Given the description of an element on the screen output the (x, y) to click on. 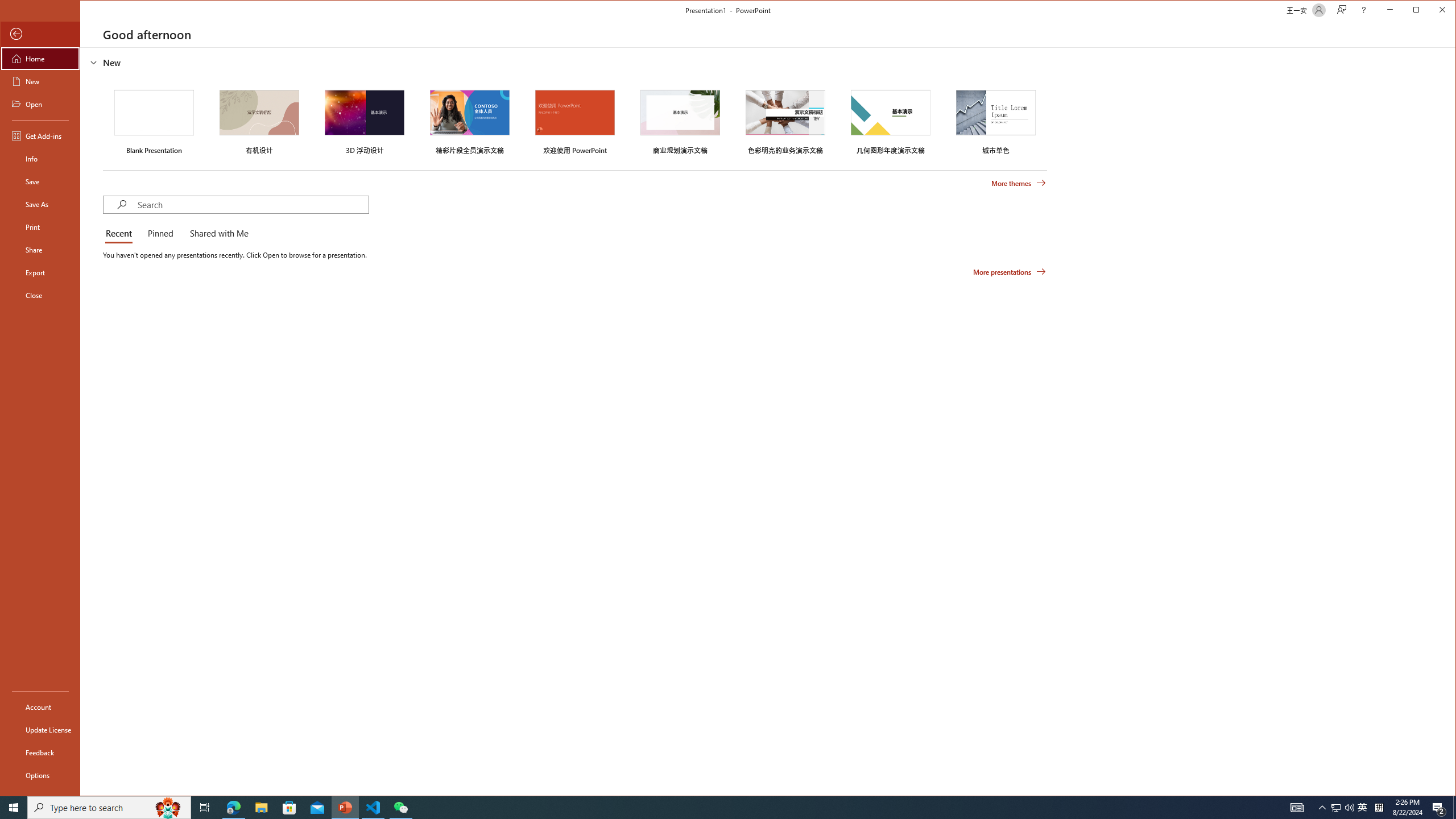
More themes (1018, 183)
Print (40, 226)
Type here to search (108, 807)
Running applications (707, 807)
Q2790: 100% (1349, 807)
Hide or show region (93, 62)
Visual Studio Code - 1 running window (373, 807)
Pinned (160, 234)
Start (13, 807)
